Given the description of an element on the screen output the (x, y) to click on. 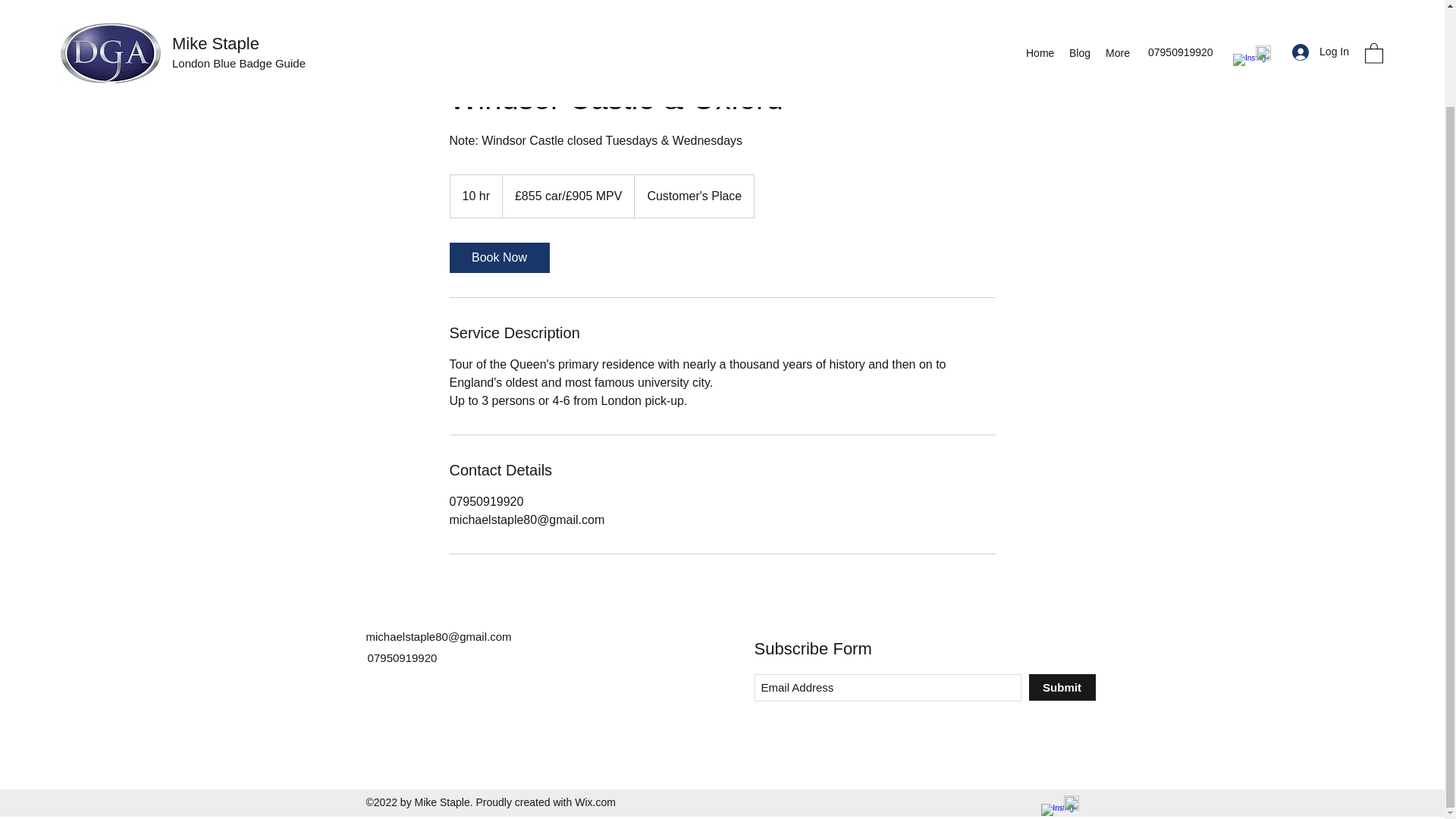
Book Now (498, 257)
Submit (1060, 687)
